Given the description of an element on the screen output the (x, y) to click on. 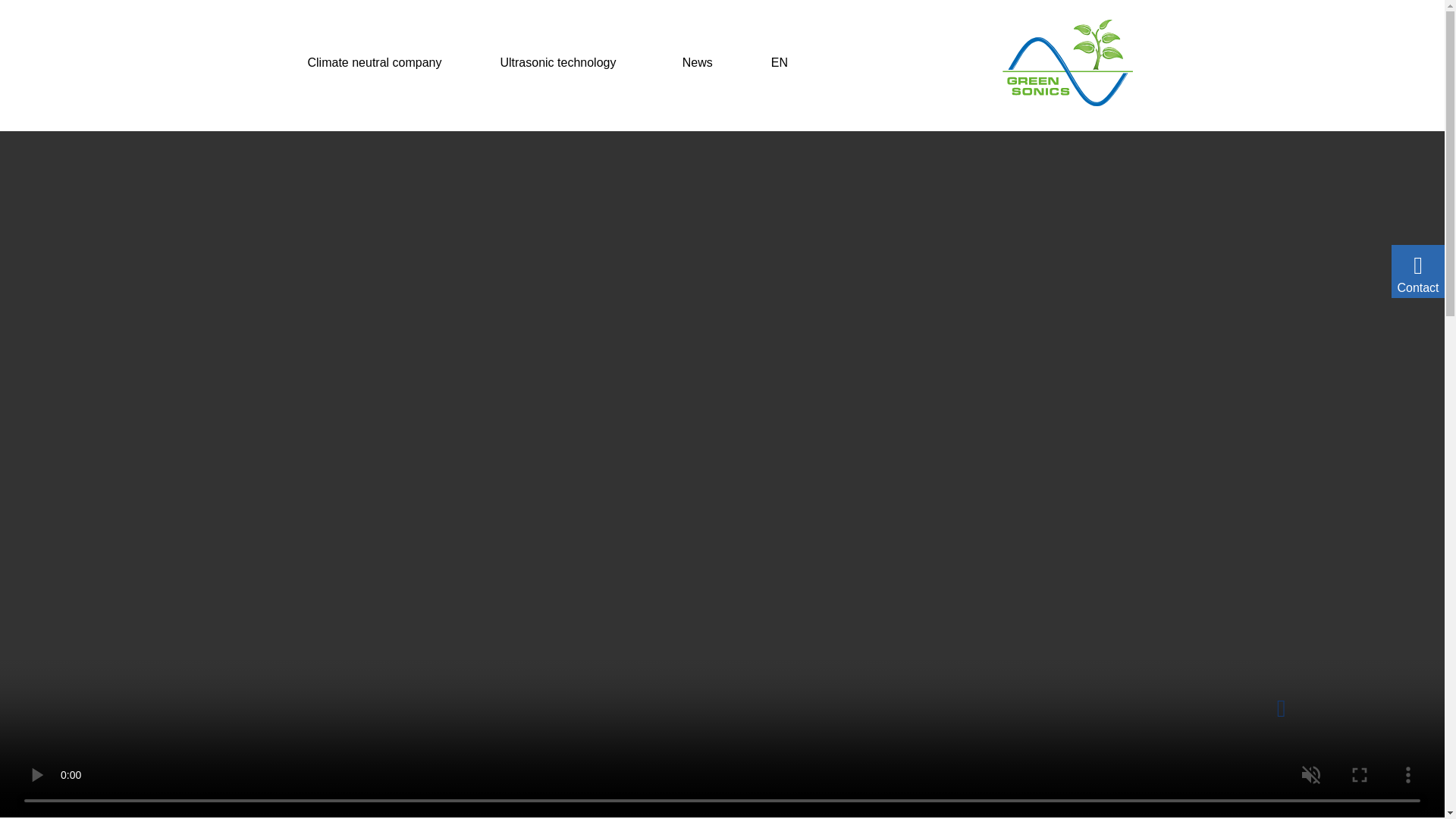
Climate neutral company (374, 62)
News (698, 62)
EN (785, 62)
Ultrasonic technology (560, 62)
